Given the description of an element on the screen output the (x, y) to click on. 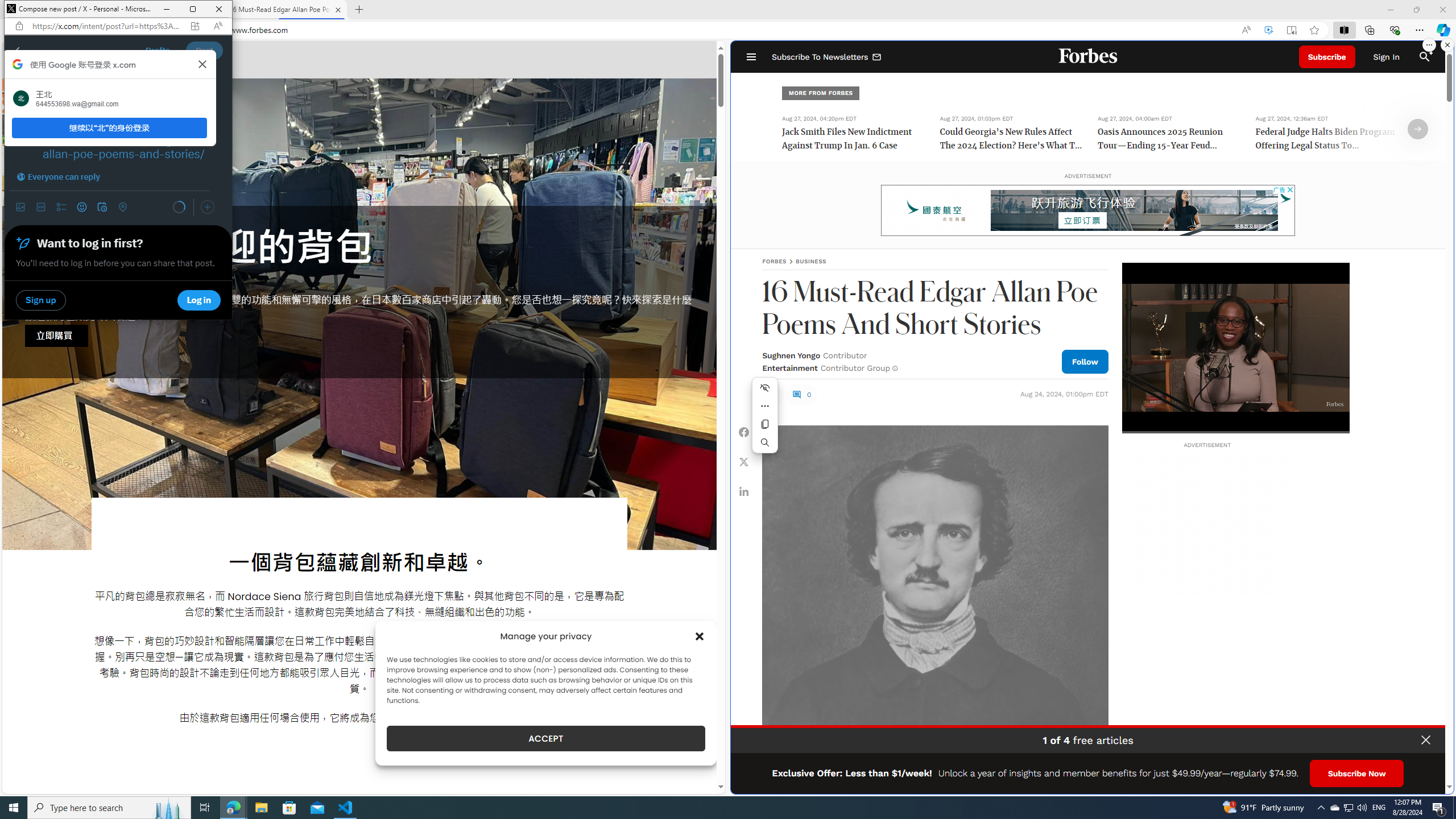
Copy (764, 424)
Tray Input Indicator - English (United States) (1378, 807)
ACCEPT (545, 738)
Type here to search (108, 807)
Entertainment (789, 367)
0 (801, 394)
FORBES (774, 261)
App available. Install X (194, 25)
Action Center, 1 new notification (1439, 807)
File Explorer (261, 807)
